Given the description of an element on the screen output the (x, y) to click on. 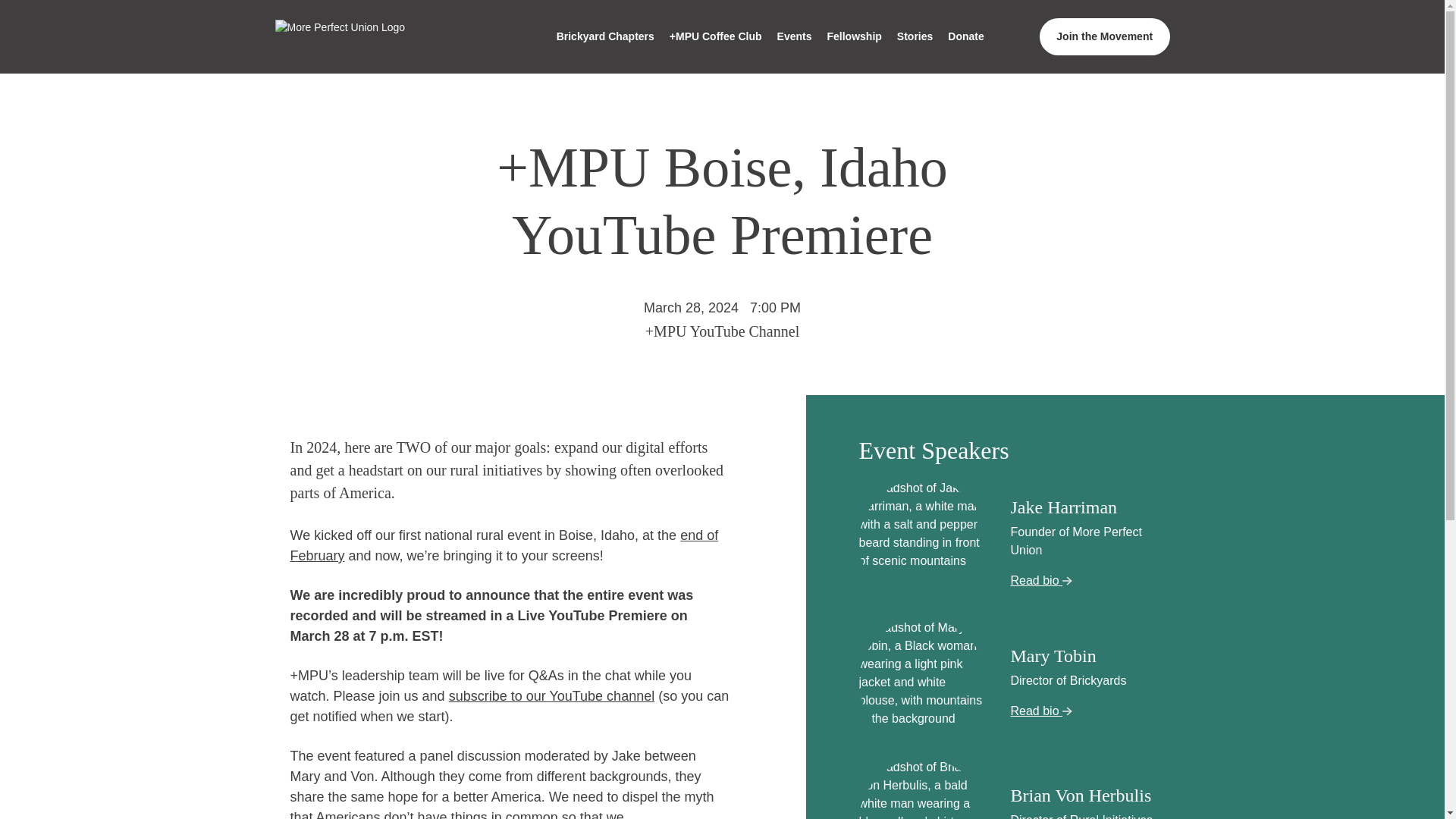
Fellowship (853, 36)
end of February (503, 545)
Donate (965, 36)
Events (794, 36)
Brickyard Chapters (605, 36)
MPU Home (387, 36)
Join the Movement (1104, 36)
Join the Movement (1104, 36)
Stories (914, 36)
subscribe to our YouTube channel (551, 695)
